Given the description of an element on the screen output the (x, y) to click on. 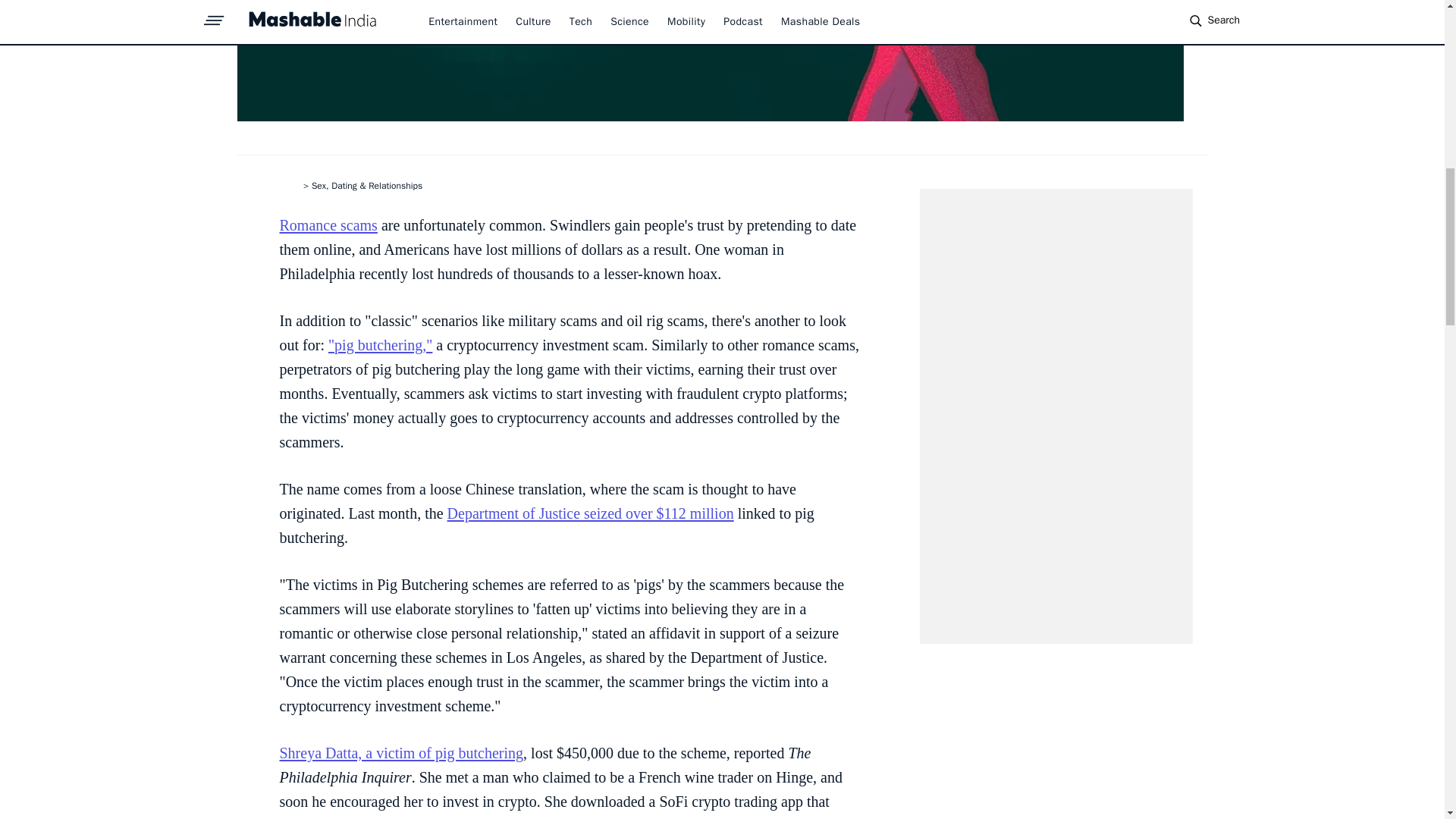
Shreya Datta, a victim of pig butchering (400, 752)
"pig butchering," (380, 344)
Romance scams (328, 225)
